Given the description of an element on the screen output the (x, y) to click on. 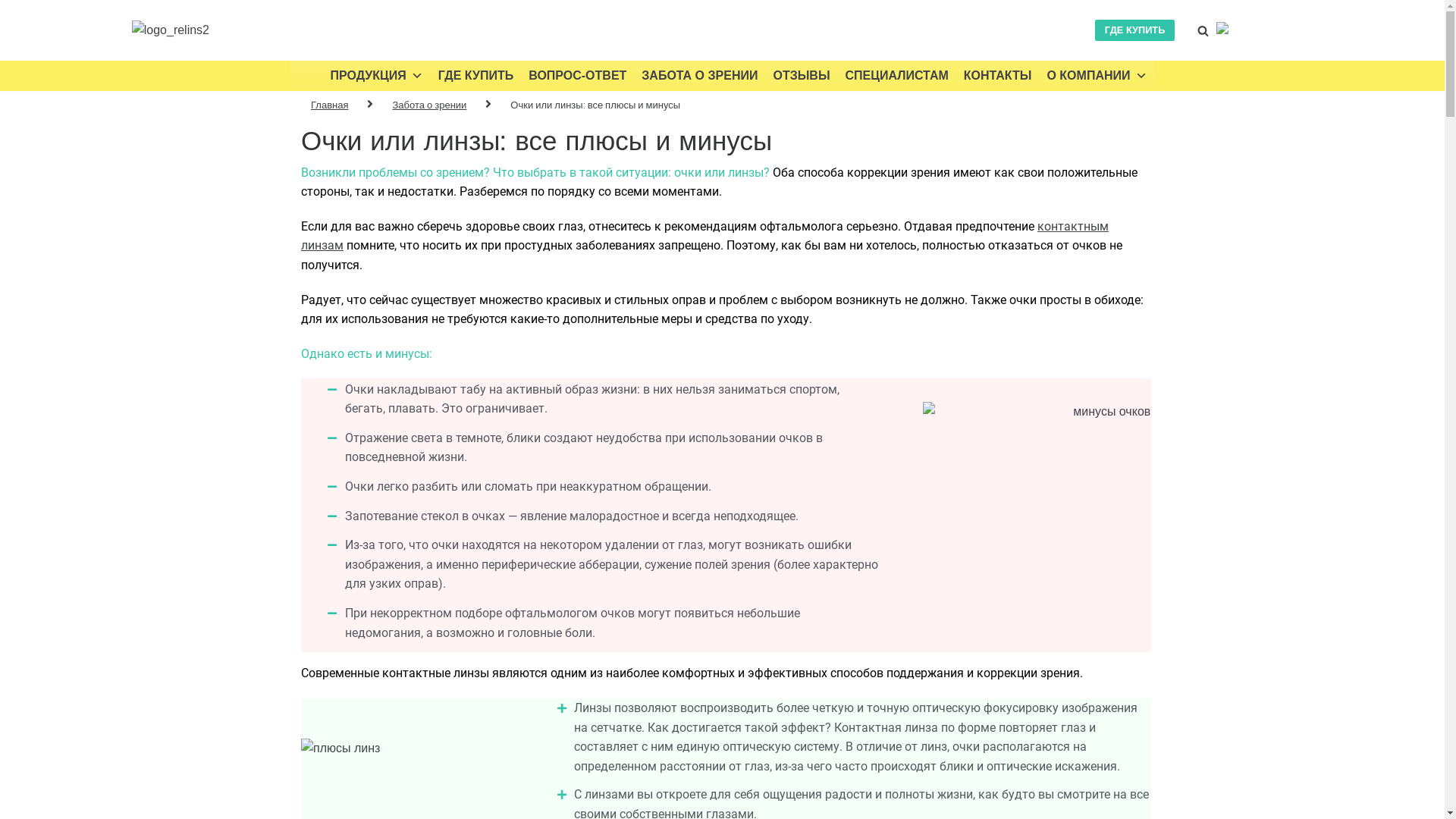
RELINS Element type: hover (170, 30)
Search Element type: text (1235, 409)
